Given the description of an element on the screen output the (x, y) to click on. 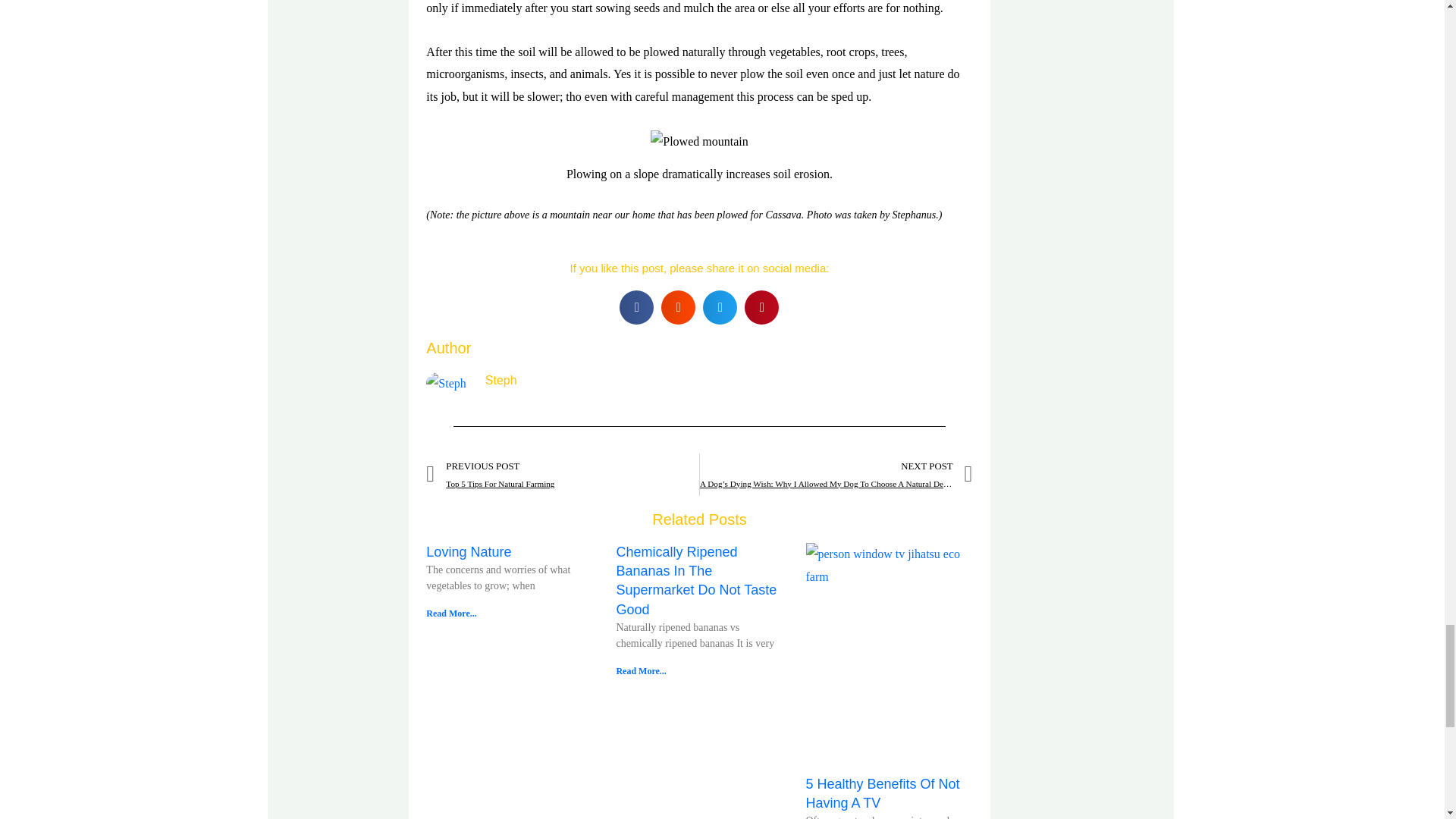
Loving Nature (468, 551)
Read More... (562, 474)
Steph (451, 613)
5 Healthy Benefits Of Not Having A TV (728, 380)
Read More... (882, 793)
